Given the description of an element on the screen output the (x, y) to click on. 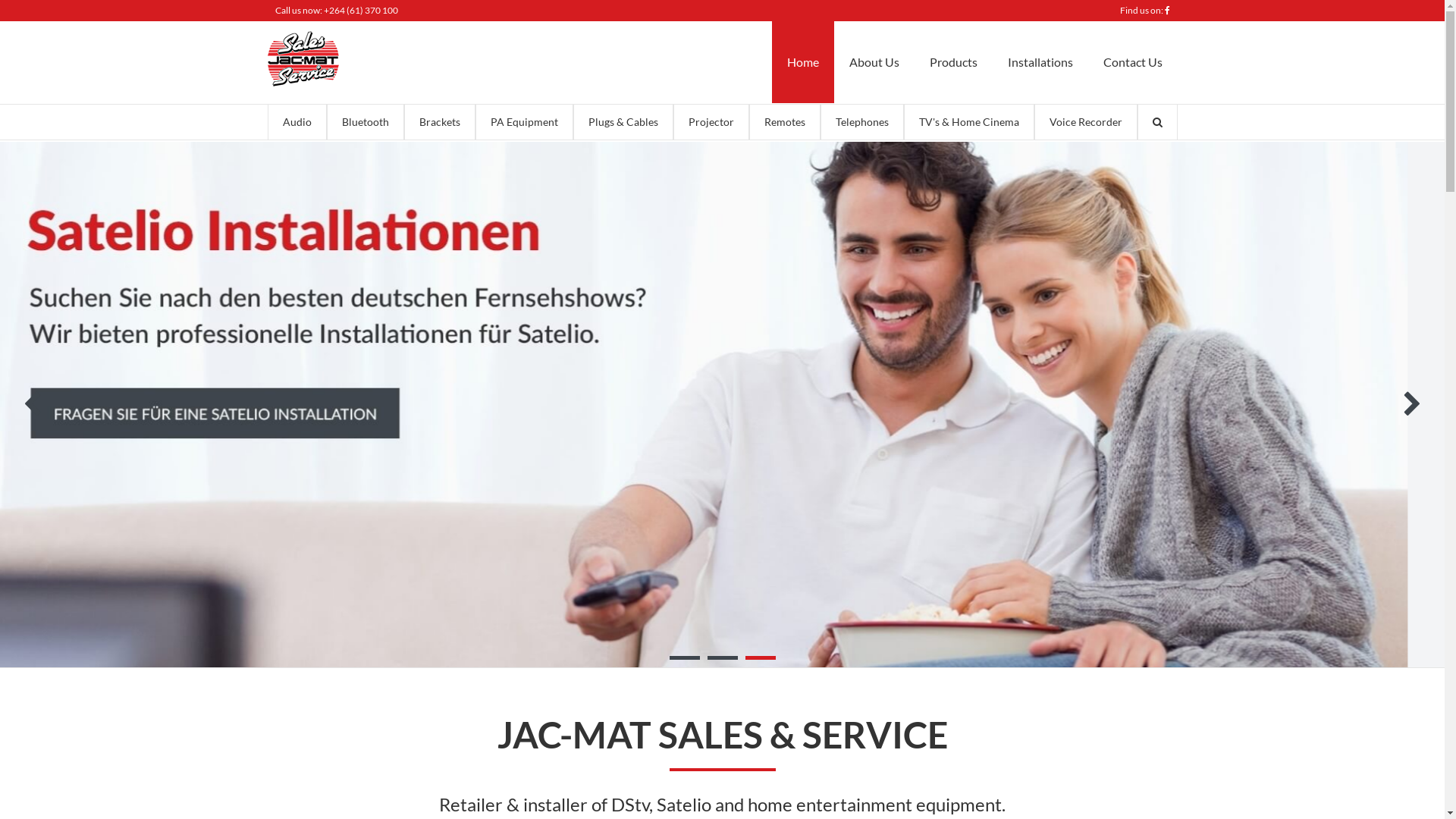
Bluetooth Element type: text (364, 121)
Contact Us Element type: text (1131, 62)
Brackets Element type: text (438, 121)
Projector Element type: text (711, 121)
Plugs & Cables Element type: text (623, 121)
Products Element type: text (953, 62)
Telephones Element type: text (861, 121)
Remotes Element type: text (784, 121)
About Us Element type: text (874, 62)
Home Element type: hover (302, 82)
+264 (61) 370 100 Element type: text (360, 9)
PA Equipment Element type: text (523, 121)
Search Element type: hover (1157, 121)
Installations Element type: text (1039, 62)
Audio Element type: text (296, 121)
Voice Recorder Element type: text (1085, 121)
TV's & Home Cinema Element type: text (968, 121)
Home Element type: text (802, 62)
Like us on Facebook Element type: hover (1167, 9)
